Given the description of an element on the screen output the (x, y) to click on. 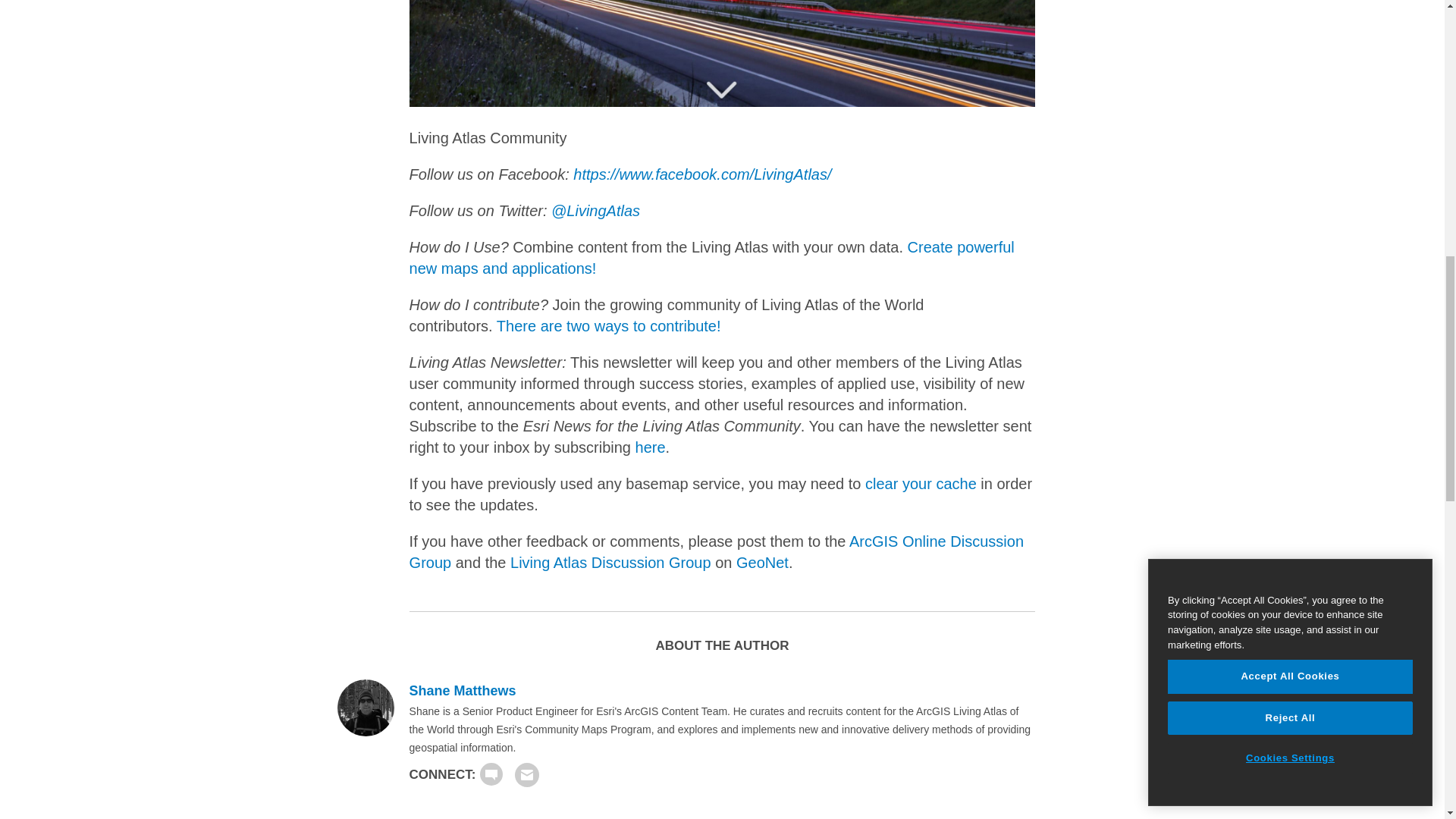
Combine content from this repository with your own data (711, 257)
The two ways to contribute (608, 325)
